Given the description of an element on the screen output the (x, y) to click on. 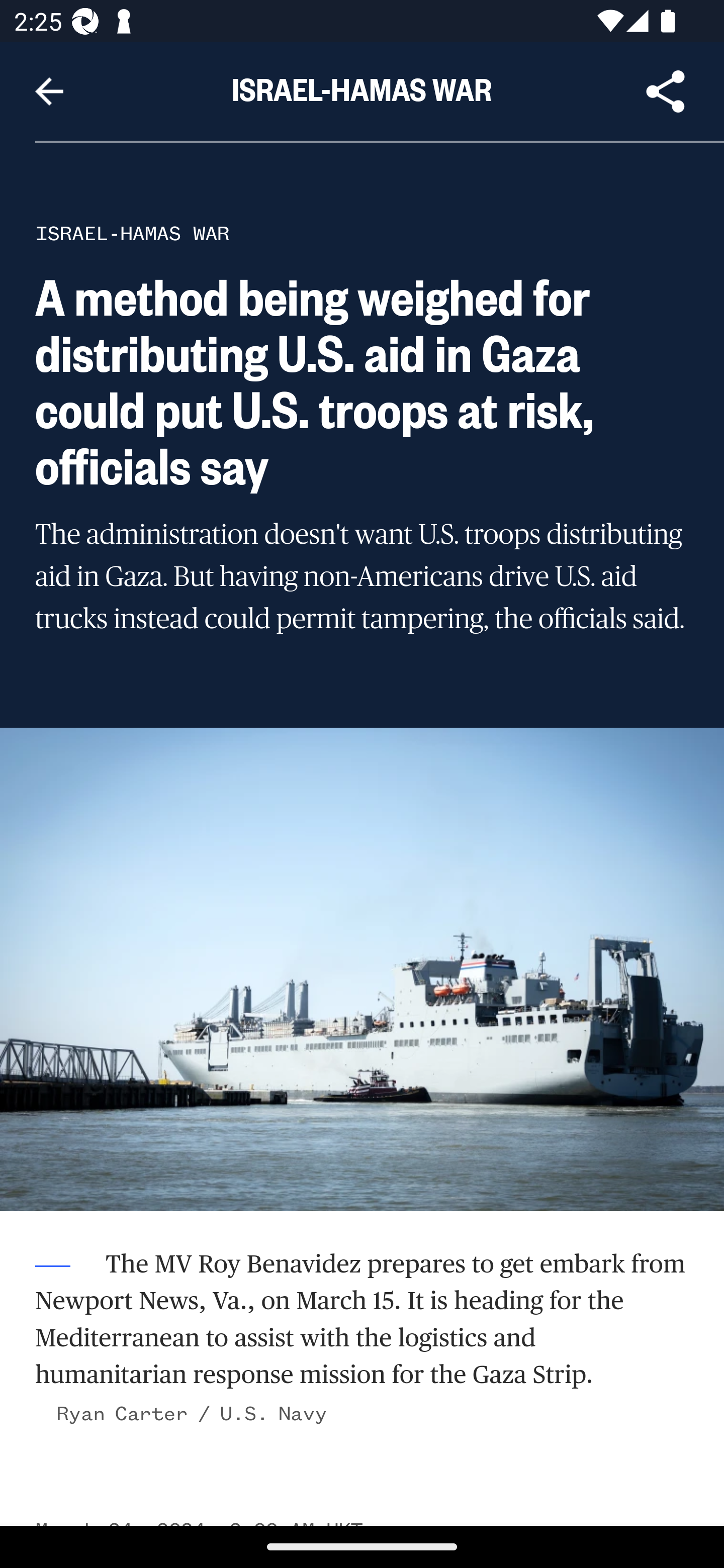
Navigate up (49, 91)
Share Article, button (665, 91)
ISRAEL-HAMAS WAR (132, 233)
